Given the description of an element on the screen output the (x, y) to click on. 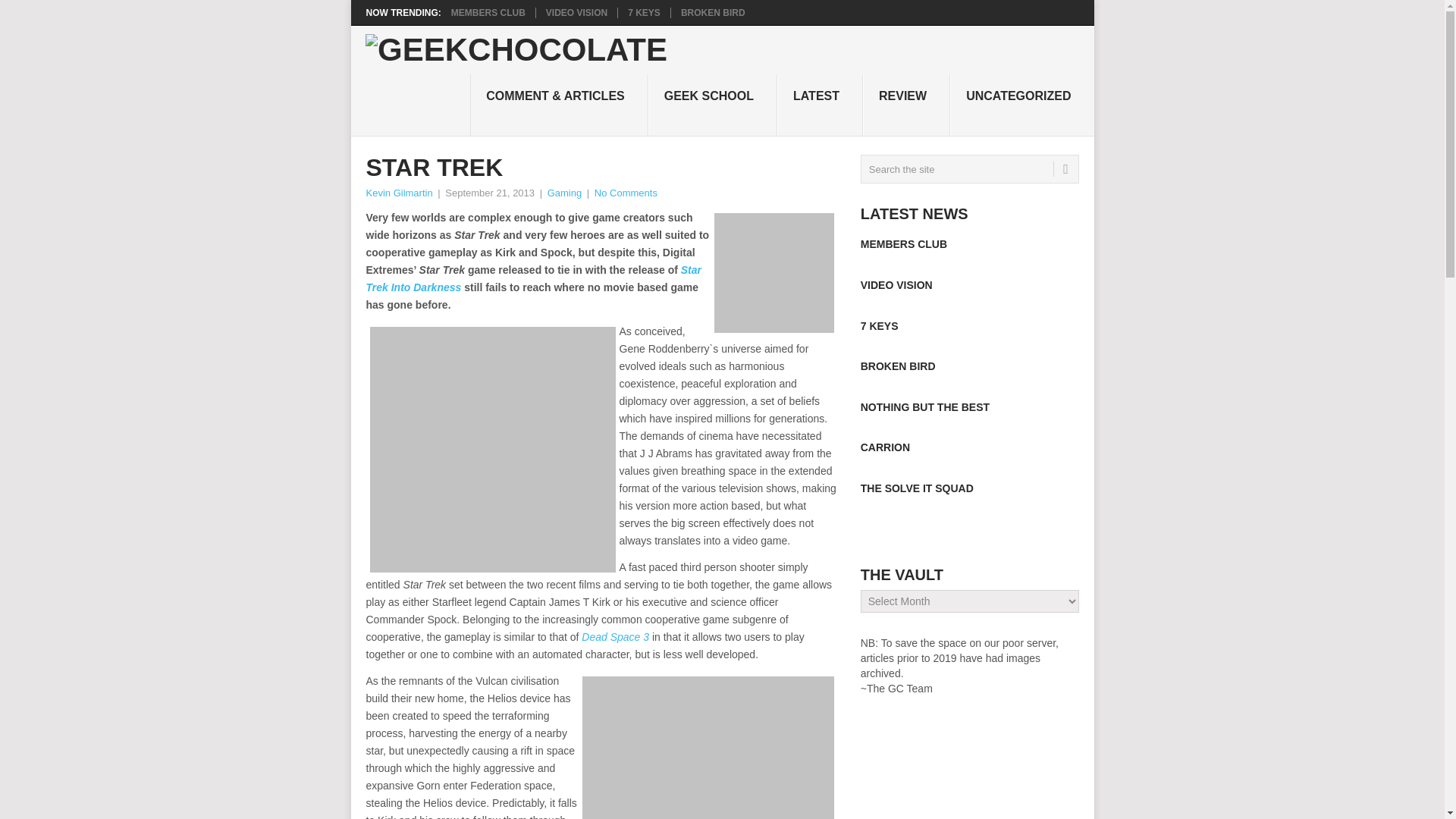
No Comments (626, 193)
Gaming (564, 193)
Dead Space 3 (614, 636)
Broken Bird (713, 12)
BROKEN BIRD (713, 12)
UNCATEGORIZED (1021, 105)
Permanent link to 7 Keys (879, 326)
Star Trek Into Darkness (533, 278)
VIDEO VISION (576, 12)
7 Keys (644, 12)
